Given the description of an element on the screen output the (x, y) to click on. 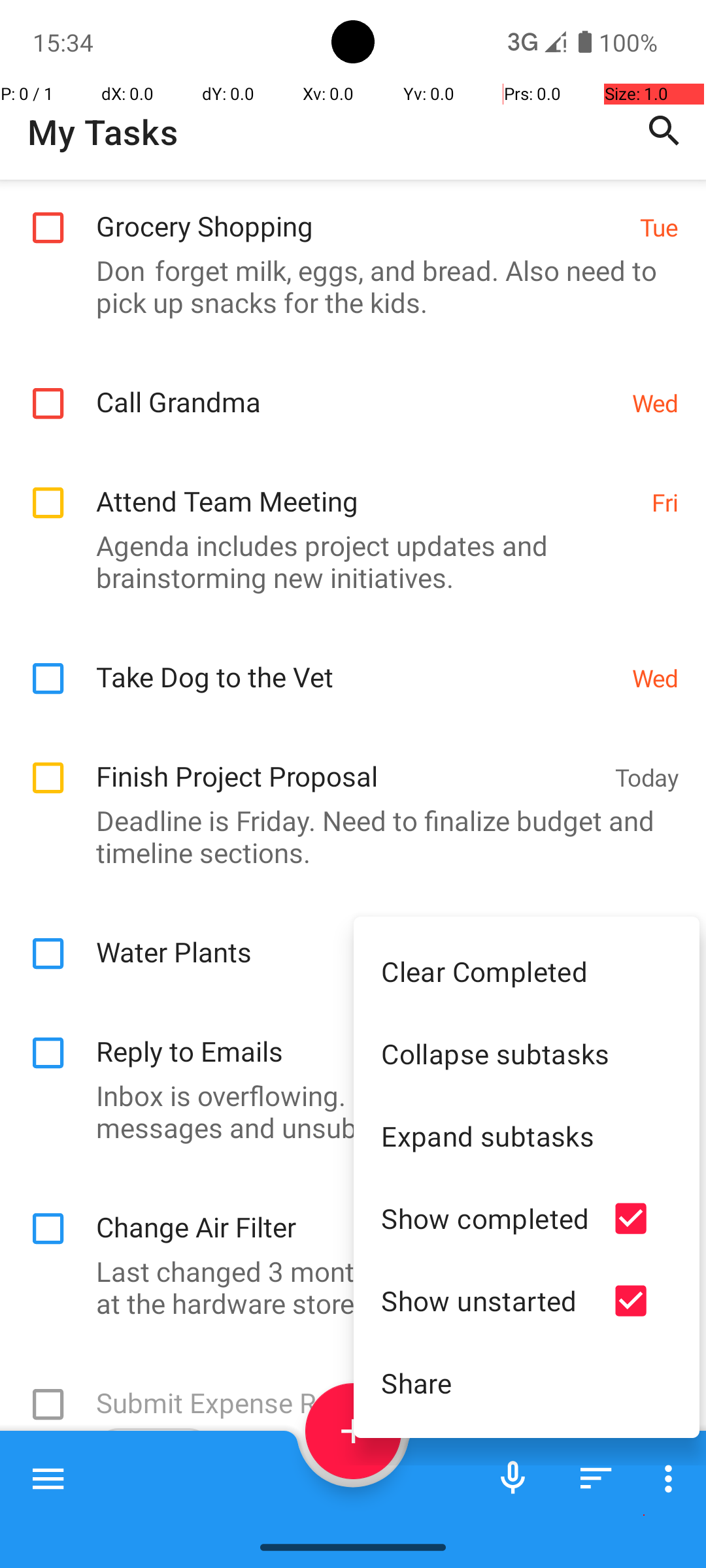
Clear Completed Element type: android.widget.TextView (526, 970)
Collapse subtasks Element type: android.widget.TextView (526, 1053)
Expand subtasks Element type: android.widget.TextView (526, 1135)
Show completed Element type: android.widget.TextView (485, 1217)
Show unstarted Element type: android.widget.TextView (485, 1300)
